Given the description of an element on the screen output the (x, y) to click on. 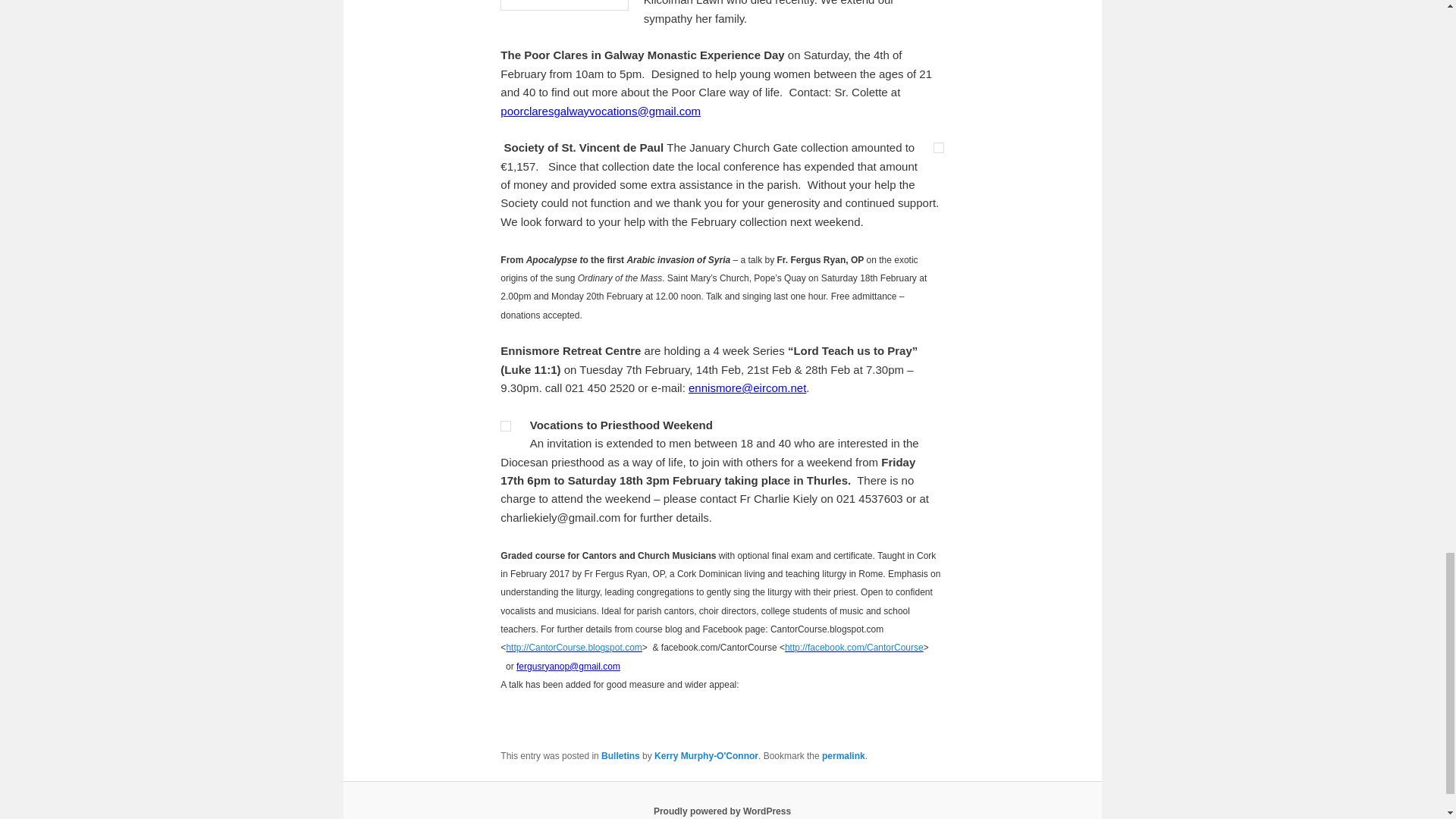
Semantic Personal Publishing Platform (721, 810)
